Given the description of an element on the screen output the (x, y) to click on. 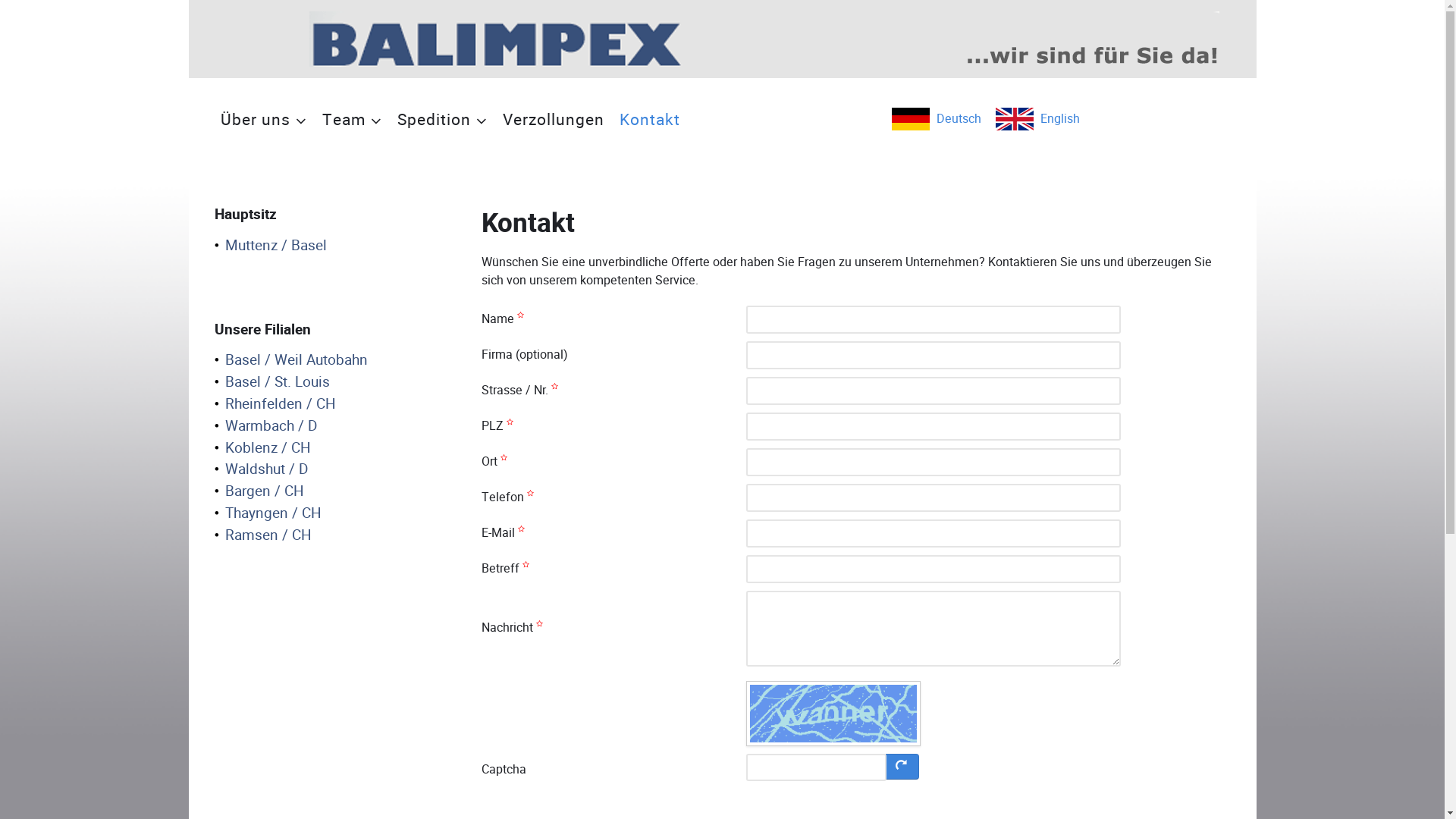
Kontakt Element type: text (648, 118)
Verzollungen Element type: text (552, 118)
Basel / St. Louis Element type: text (271, 382)
Deutsch Element type: text (936, 118)
Basel / Weil Autobahn Element type: text (290, 360)
Rheinfelden / CH Element type: text (274, 404)
Thayngen / CH Element type: text (267, 513)
Team Element type: text (351, 118)
English Element type: text (1035, 118)
Koblenz / CH Element type: text (261, 448)
Spedition Element type: text (442, 118)
Ramsen / CH Element type: text (262, 535)
Waldshut / D Element type: text (260, 469)
Muttenz / Basel Element type: text (269, 246)
Bargen / CH Element type: text (258, 491)
Warmbach / D Element type: text (264, 426)
